Given the description of an element on the screen output the (x, y) to click on. 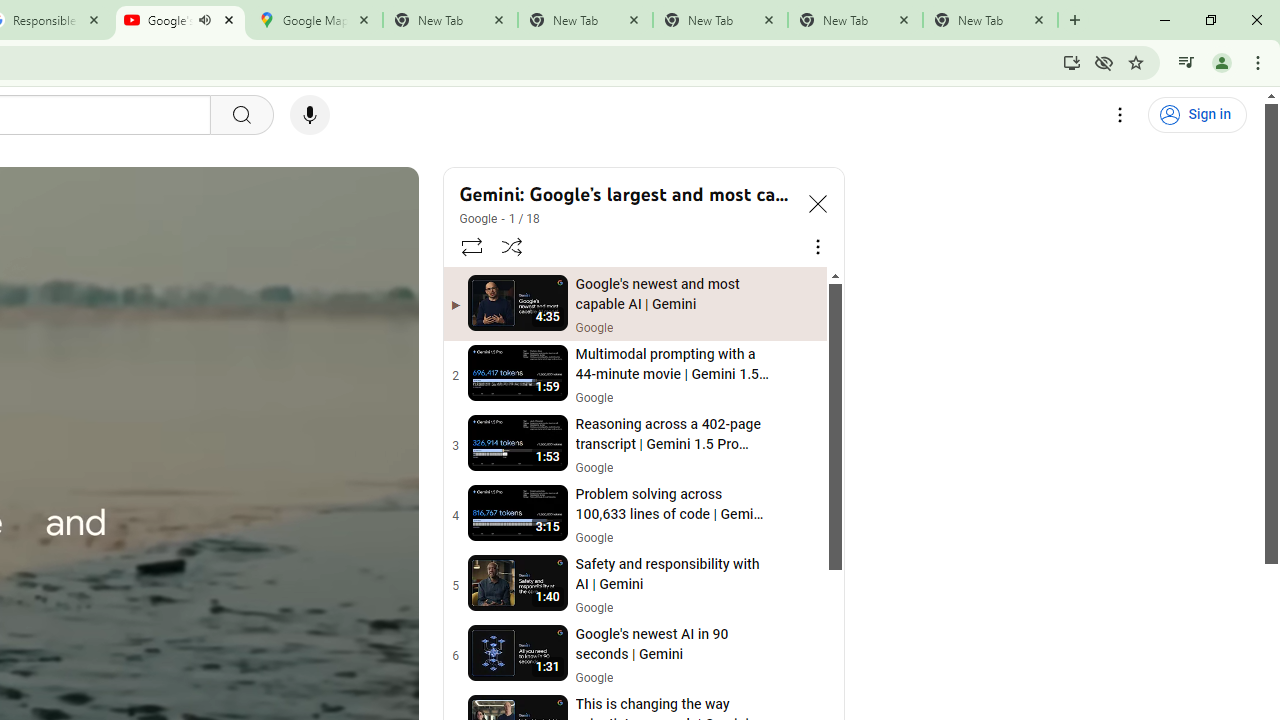
New Tab (990, 20)
Install YouTube (1071, 62)
Search with your voice (309, 115)
Shuffle playlist (511, 246)
